Given the description of an element on the screen output the (x, y) to click on. 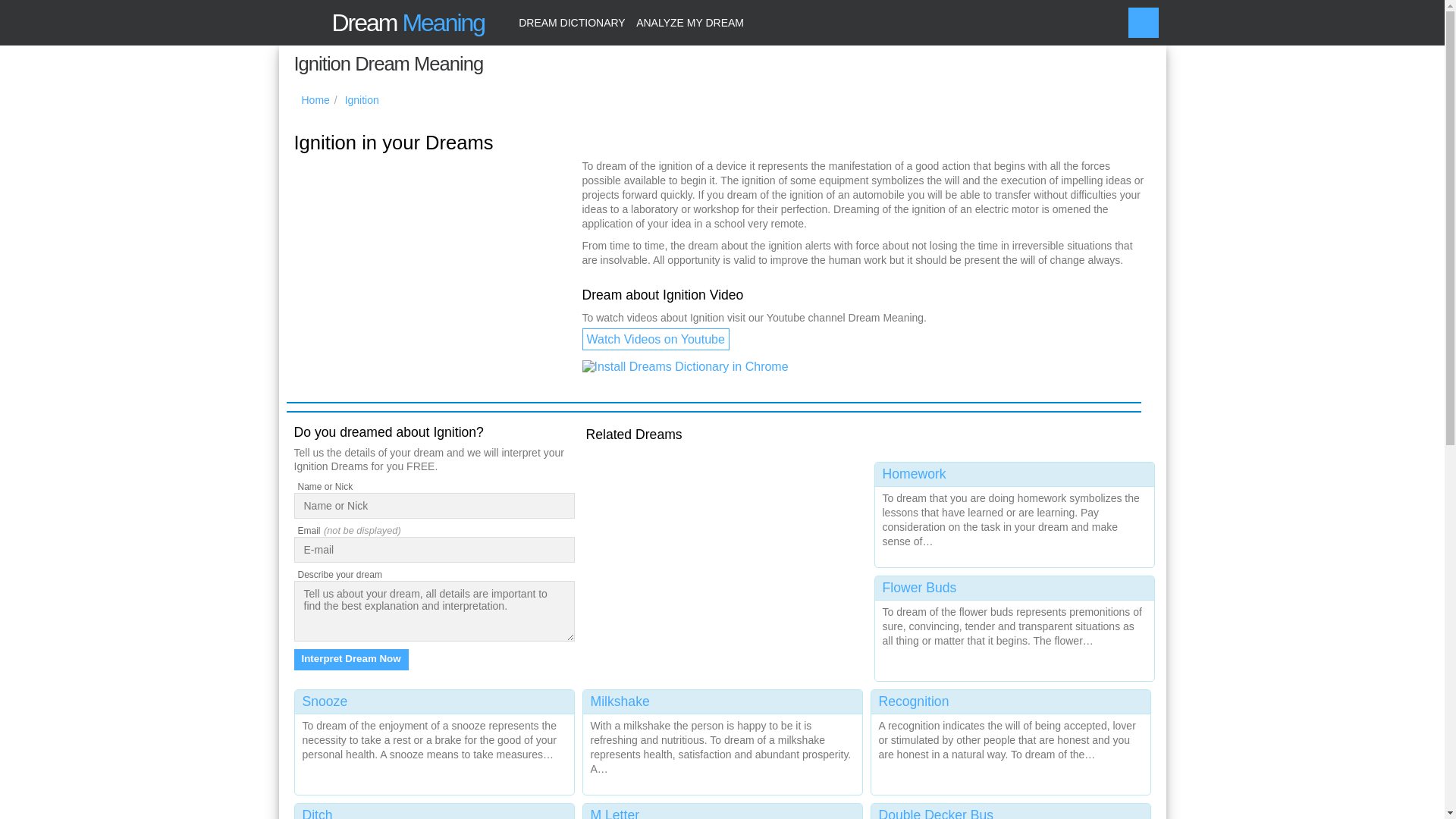
Ignition Dreams Interpretations and Meanings Explained (361, 100)
Ignition (361, 100)
Dreams Meanings, Symbols and Interpretations (315, 100)
Interpret Dream Now (351, 659)
Dream Meaning Videos (655, 339)
Dream Dictionary (572, 22)
Home (315, 100)
Double Decker Bus Dream Meaning (1010, 811)
Flower Buds Dream Meaning (1014, 625)
Dreams Interpretation and Meaning (385, 22)
